Given the description of an element on the screen output the (x, y) to click on. 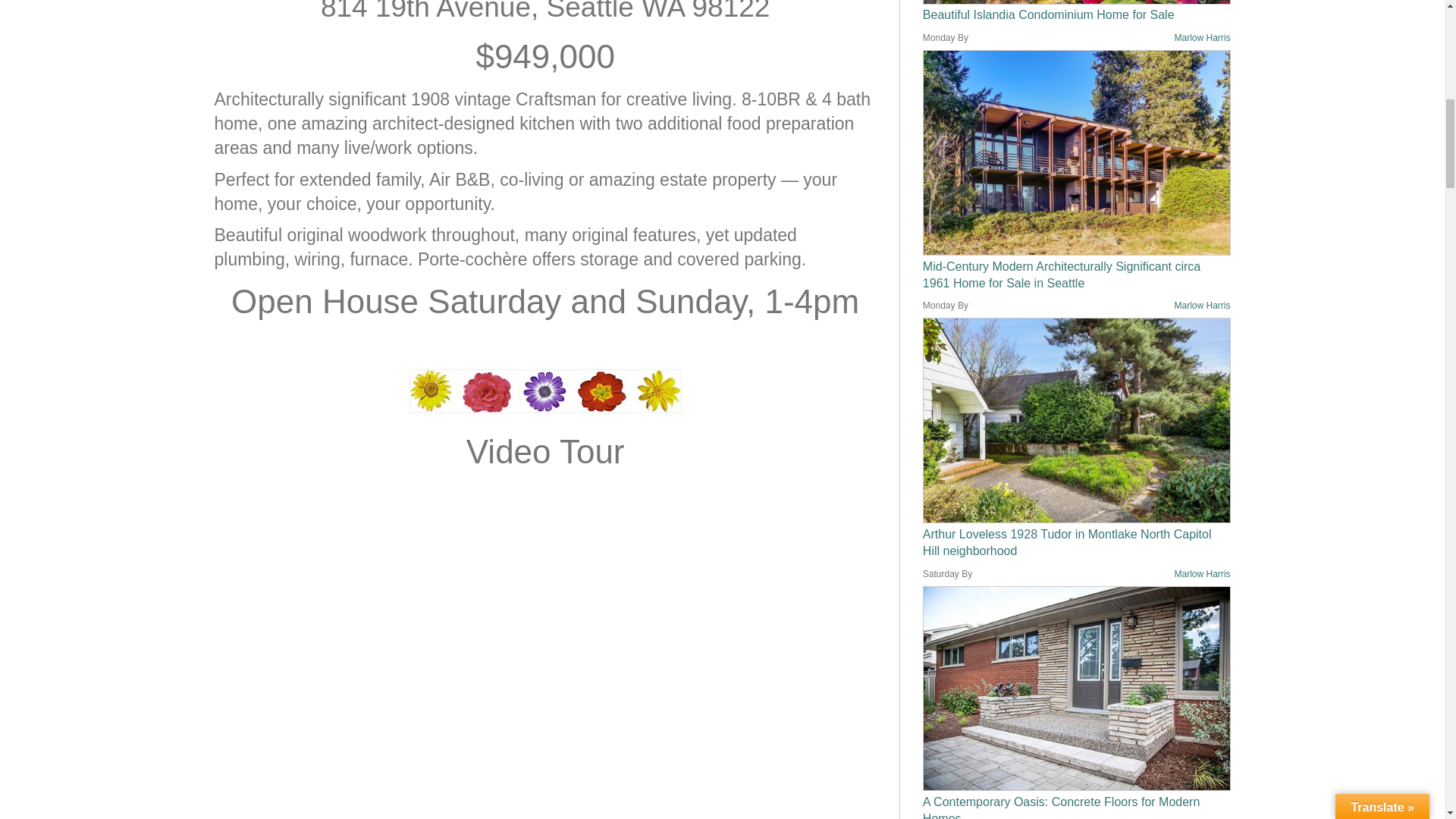
A Contemporary Oasis: Concrete Floors for Modern Homes (1076, 688)
Beautiful Islandia Condominium Home for Sale (1076, 2)
